Given the description of an element on the screen output the (x, y) to click on. 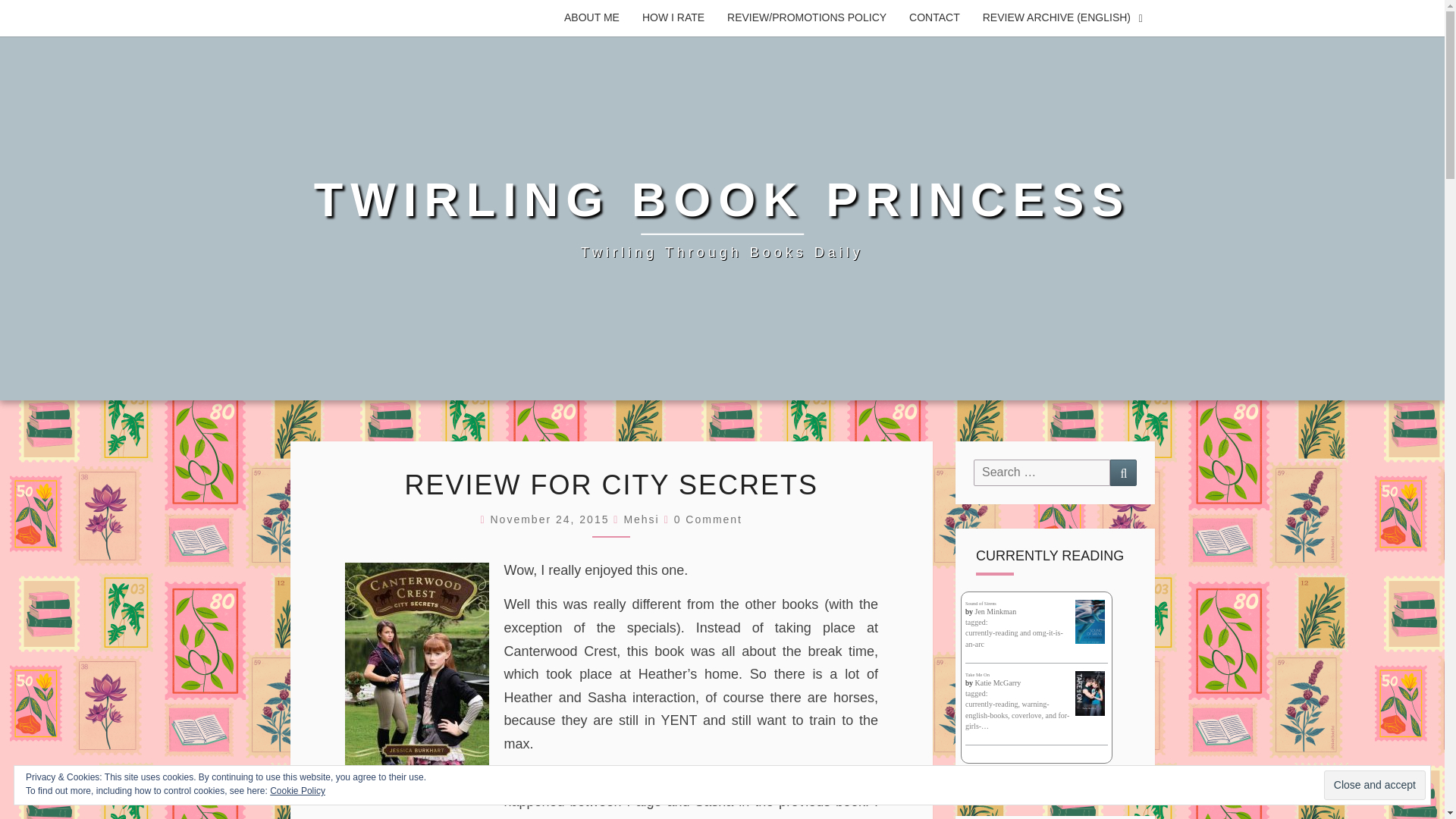
ABOUT ME (591, 18)
HOW I RATE (673, 18)
Twirling Book Princess (722, 217)
Close and accept (1374, 785)
CONTACT (934, 18)
12:58 (550, 519)
View all posts by Mehsi (641, 519)
